Given the description of an element on the screen output the (x, y) to click on. 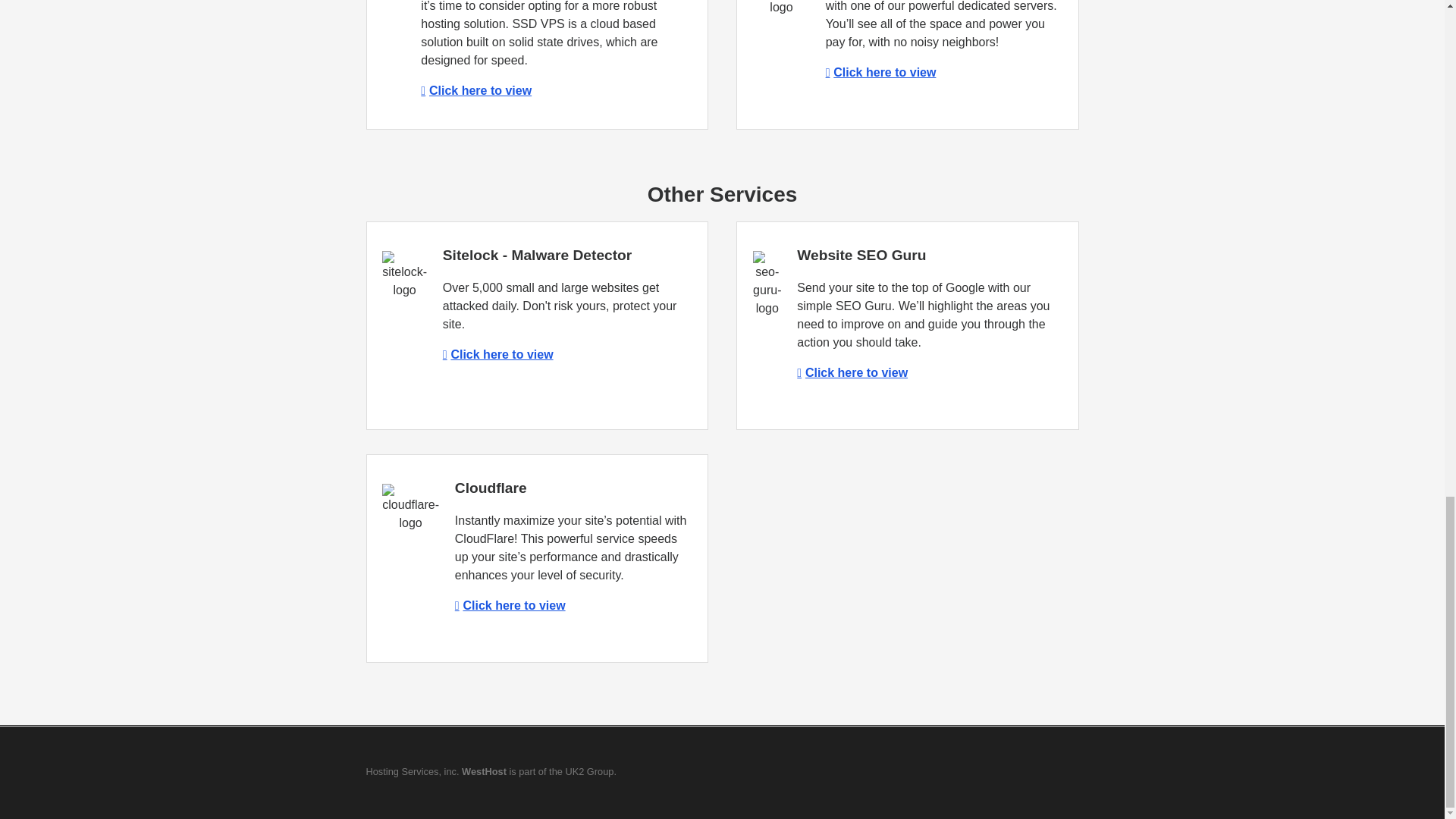
Click here to view (880, 72)
WestHost (483, 771)
Click here to view (475, 90)
Click here to view (851, 372)
Click here to view (497, 354)
Click here to view (510, 604)
